Given the description of an element on the screen output the (x, y) to click on. 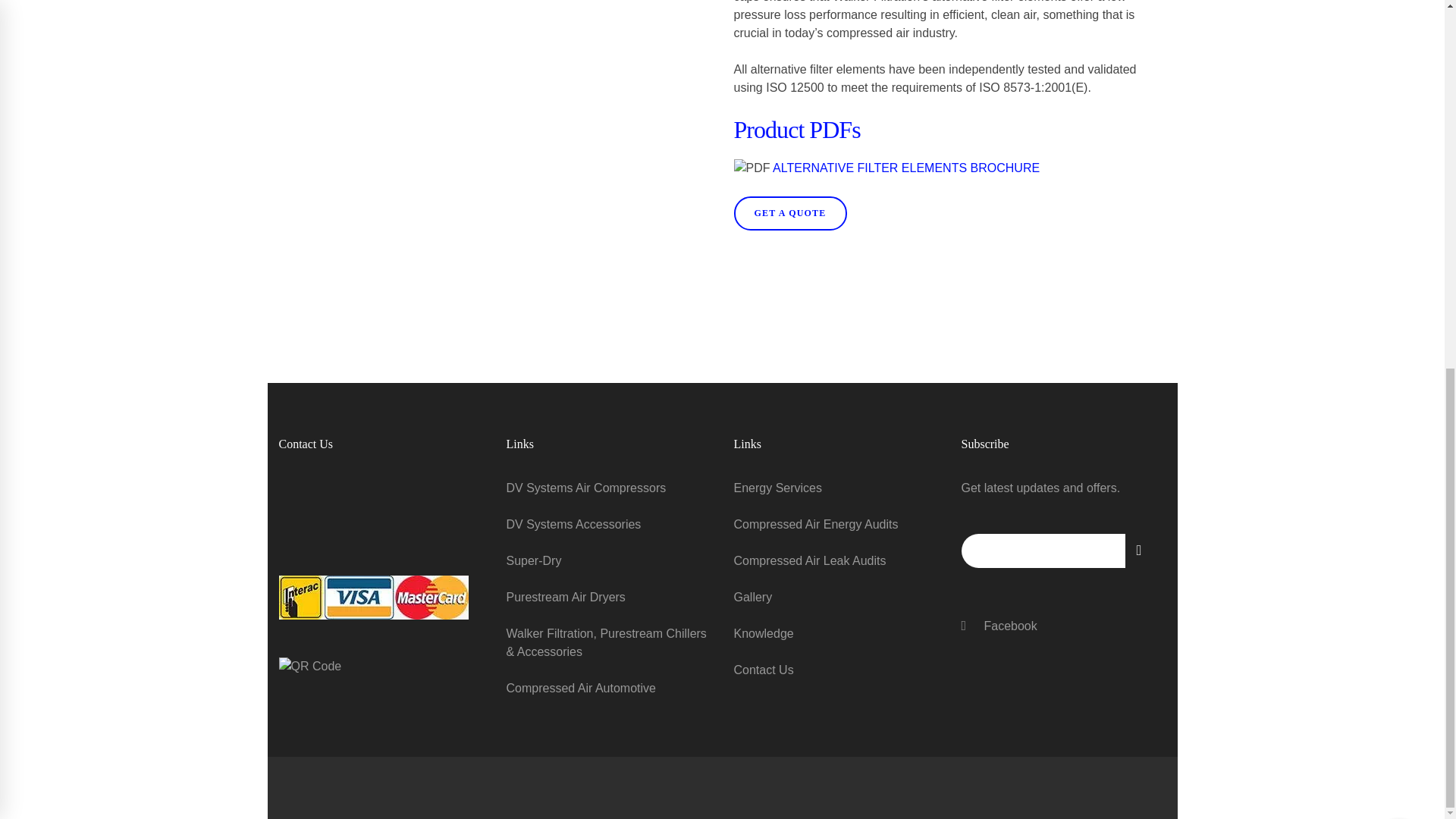
GET A QUOTE (790, 213)
Super-Dry (608, 560)
DV Systems Accessories (608, 524)
Purestream Air Dryers (608, 597)
Energy Services (836, 488)
Compressed Air Leak Audits (836, 560)
DV Systems Air Compressors (608, 488)
Compressed Air Automotive (608, 688)
Compressed Air Energy Audits (836, 524)
ALTERNATIVE FILTER ELEMENTS BROCHURE (906, 167)
